Given the description of an element on the screen output the (x, y) to click on. 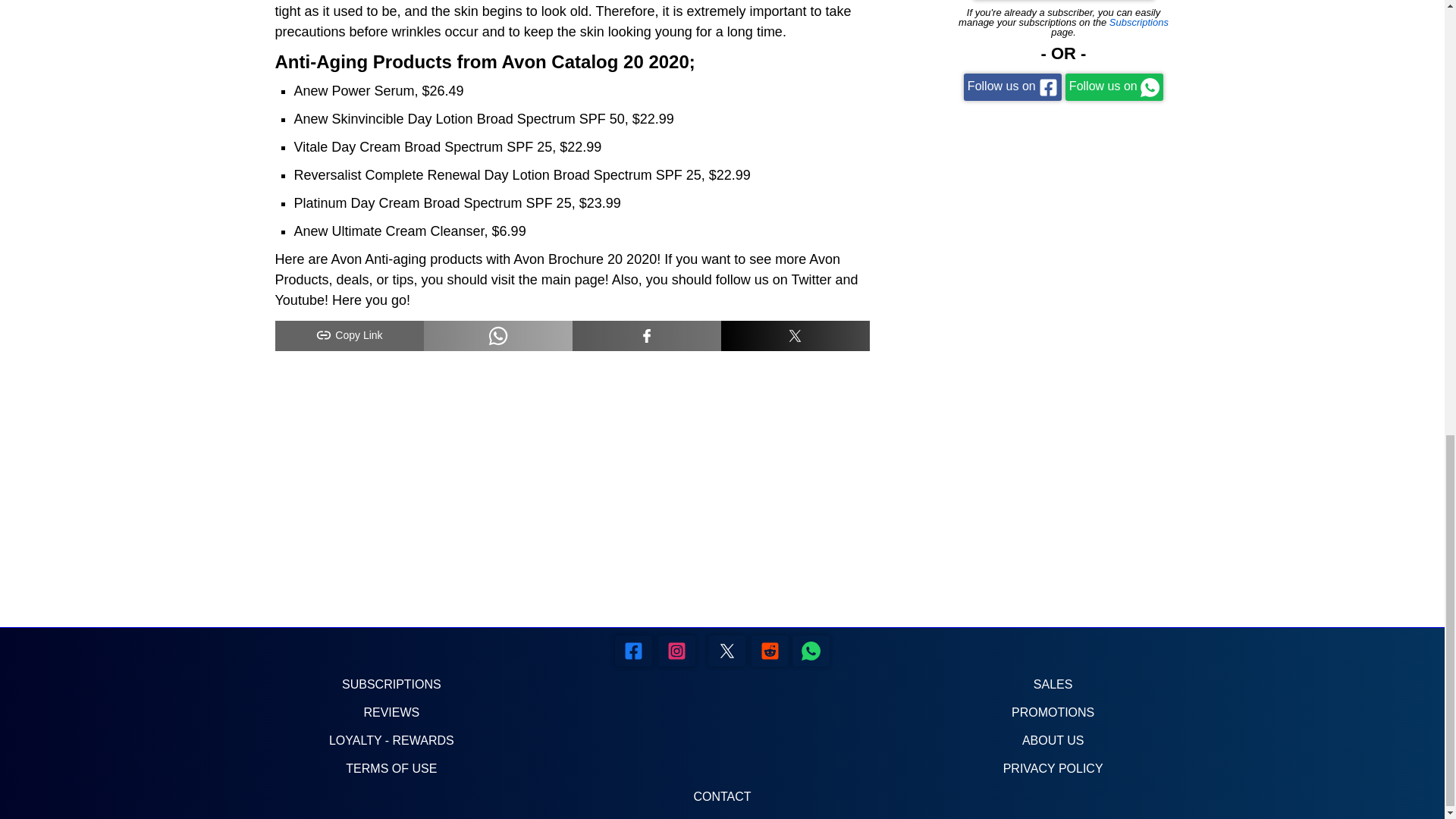
WeeklyAds2 on Reddit (810, 650)
Subscriptions (1139, 21)
LOYALTY - REWARDS (391, 739)
WeeklyAds2 on Facebook (633, 650)
Copy Link (349, 336)
TERMS OF USE (391, 768)
WeeklyAds2 on X (726, 650)
Follow us on (1114, 86)
WeeklyAds2 on Instagram (676, 650)
PRIVACY POLICY (1053, 768)
